Given the description of an element on the screen output the (x, y) to click on. 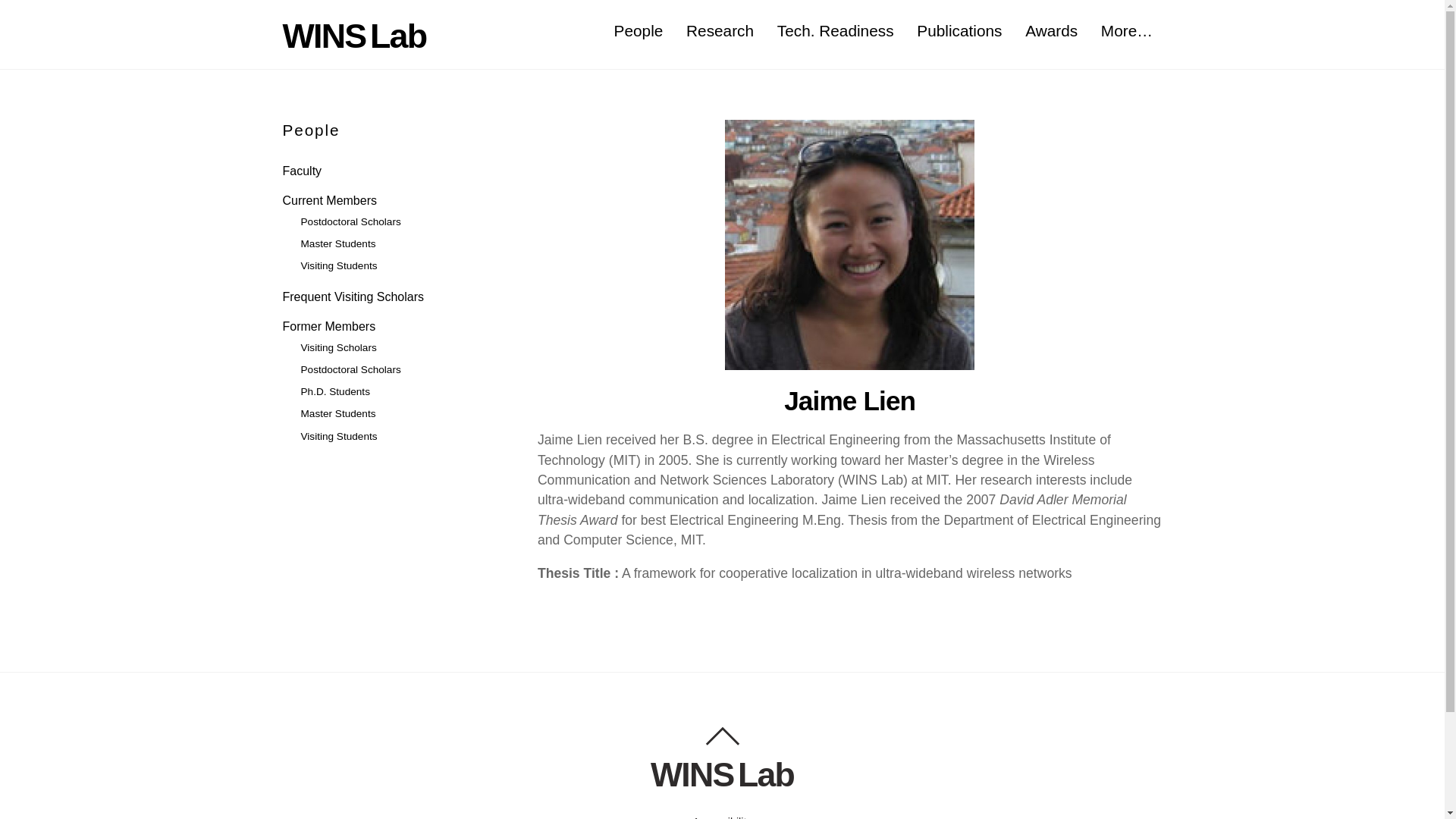
People (638, 31)
Research (719, 31)
WINS Lab (721, 774)
Publications (959, 31)
Tech. Readiness (834, 31)
WINS Lab (354, 35)
WINS Lab (354, 35)
